Given the description of an element on the screen output the (x, y) to click on. 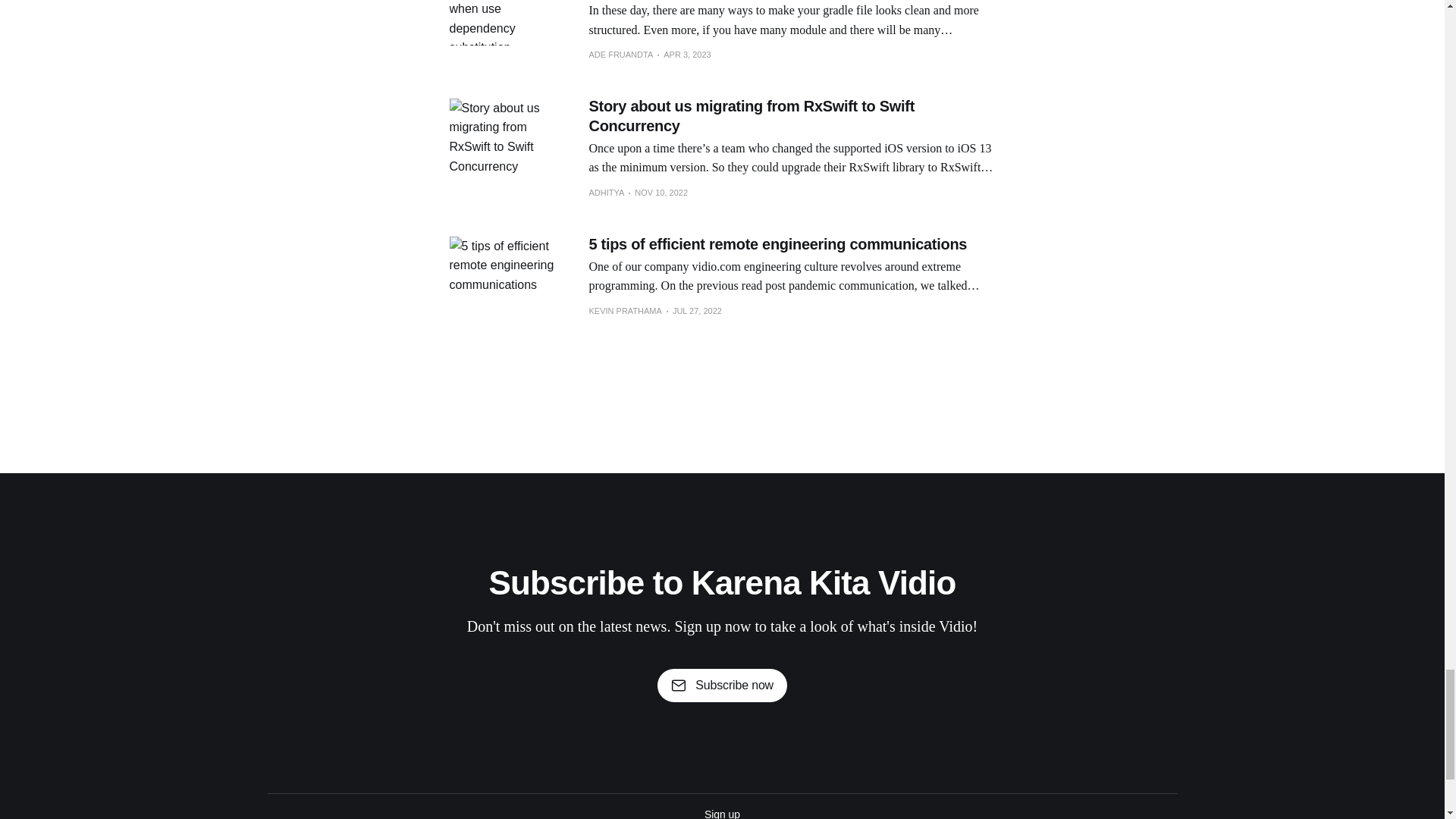
Sign up (721, 812)
Subscribe now (722, 685)
